Given the description of an element on the screen output the (x, y) to click on. 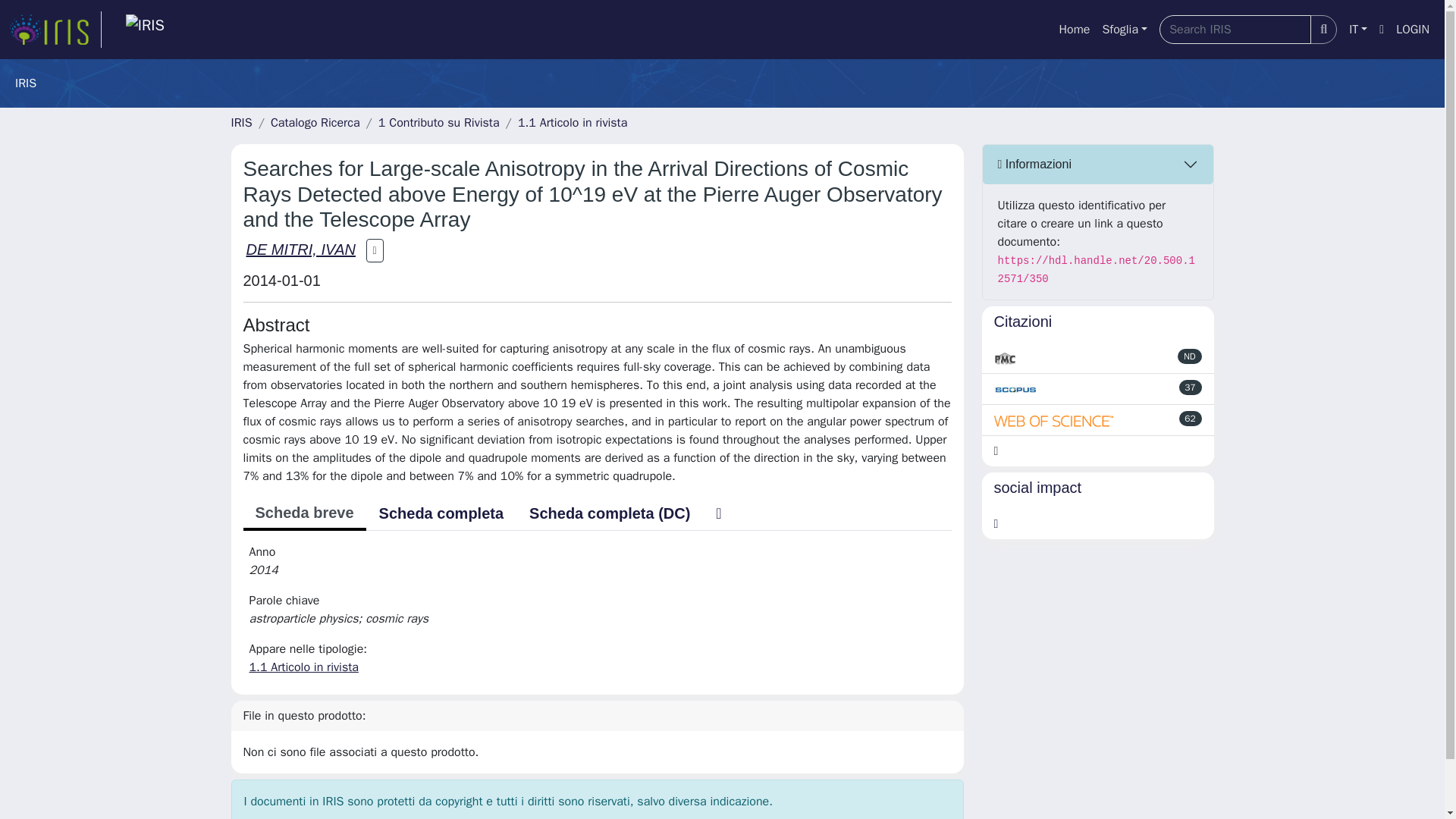
Scheda breve (304, 513)
Home (1074, 29)
Aiuto (1381, 29)
 Informazioni (1097, 164)
DE MITRI, IVAN (300, 248)
IRIS (240, 122)
1.1 Articolo in rivista (572, 122)
Scheda completa (441, 513)
Catalogo Ricerca (314, 122)
IT (1357, 29)
1.1 Articolo in rivista (303, 667)
LOGIN (1412, 29)
1 Contributo su Rivista (438, 122)
aggiornato in data 09-07-2024 17:33 (1190, 387)
mostra contributor esterni (374, 250)
